Given the description of an element on the screen output the (x, y) to click on. 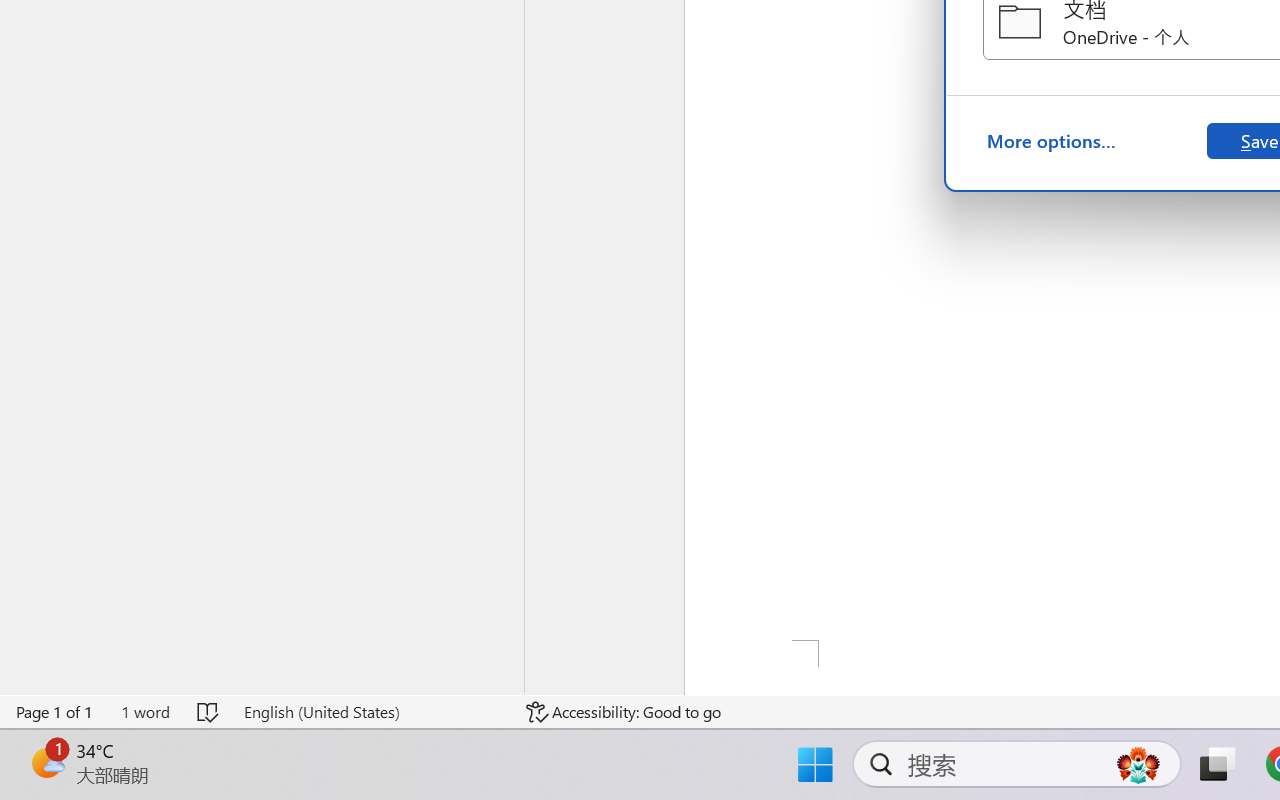
AutomationID: BadgeAnchorLargeTicker (46, 762)
Word Count 1 word (145, 712)
Accessibility Checker Accessibility: Good to go (623, 712)
AutomationID: DynamicSearchBoxGleamImage (1138, 764)
Language English (United States) (370, 712)
Page Number Page 1 of 1 (55, 712)
Spelling and Grammar Check No Errors (208, 712)
